Given the description of an element on the screen output the (x, y) to click on. 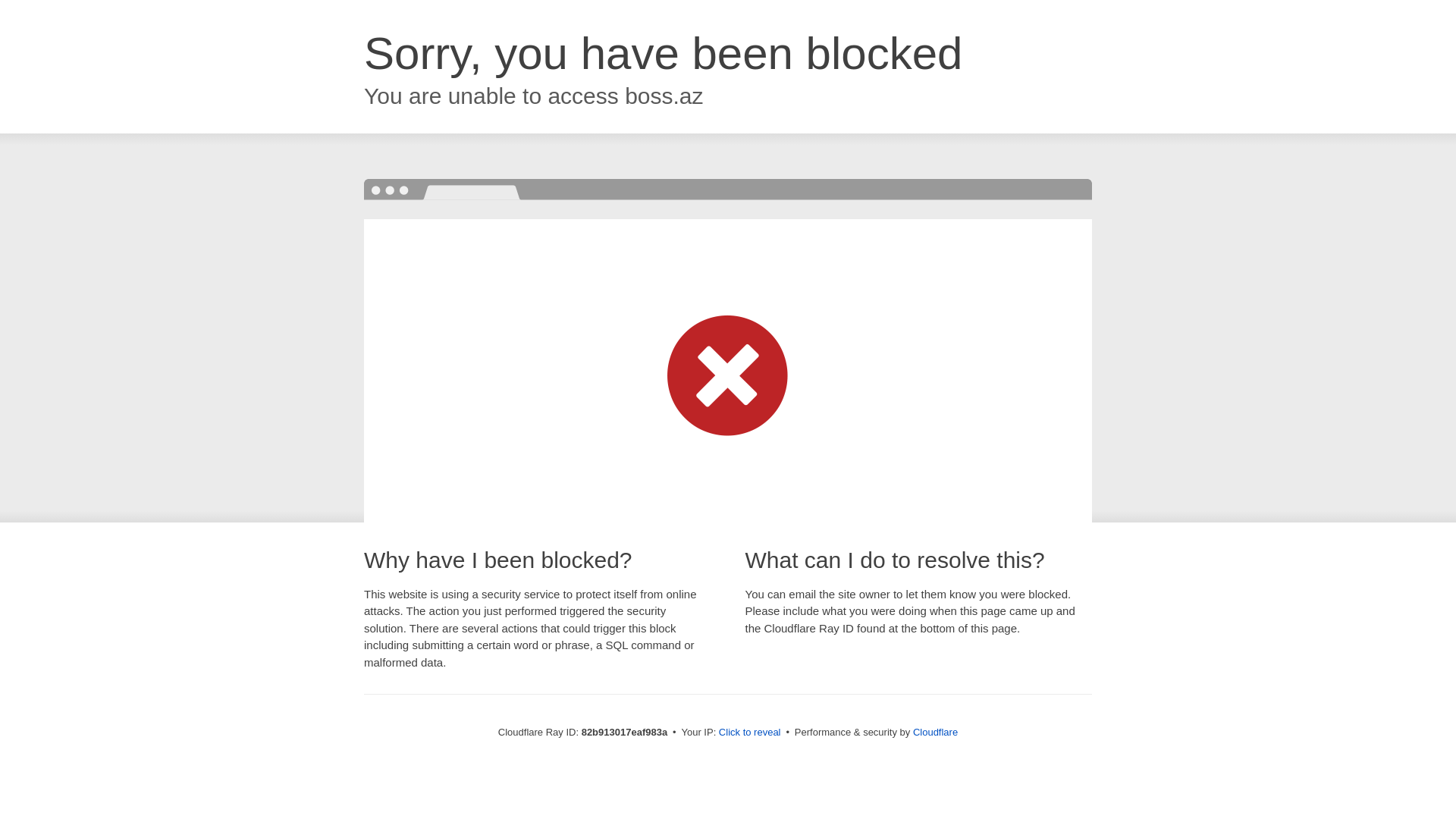
Click to reveal Element type: text (749, 732)
Cloudflare Element type: text (935, 731)
